Given the description of an element on the screen output the (x, y) to click on. 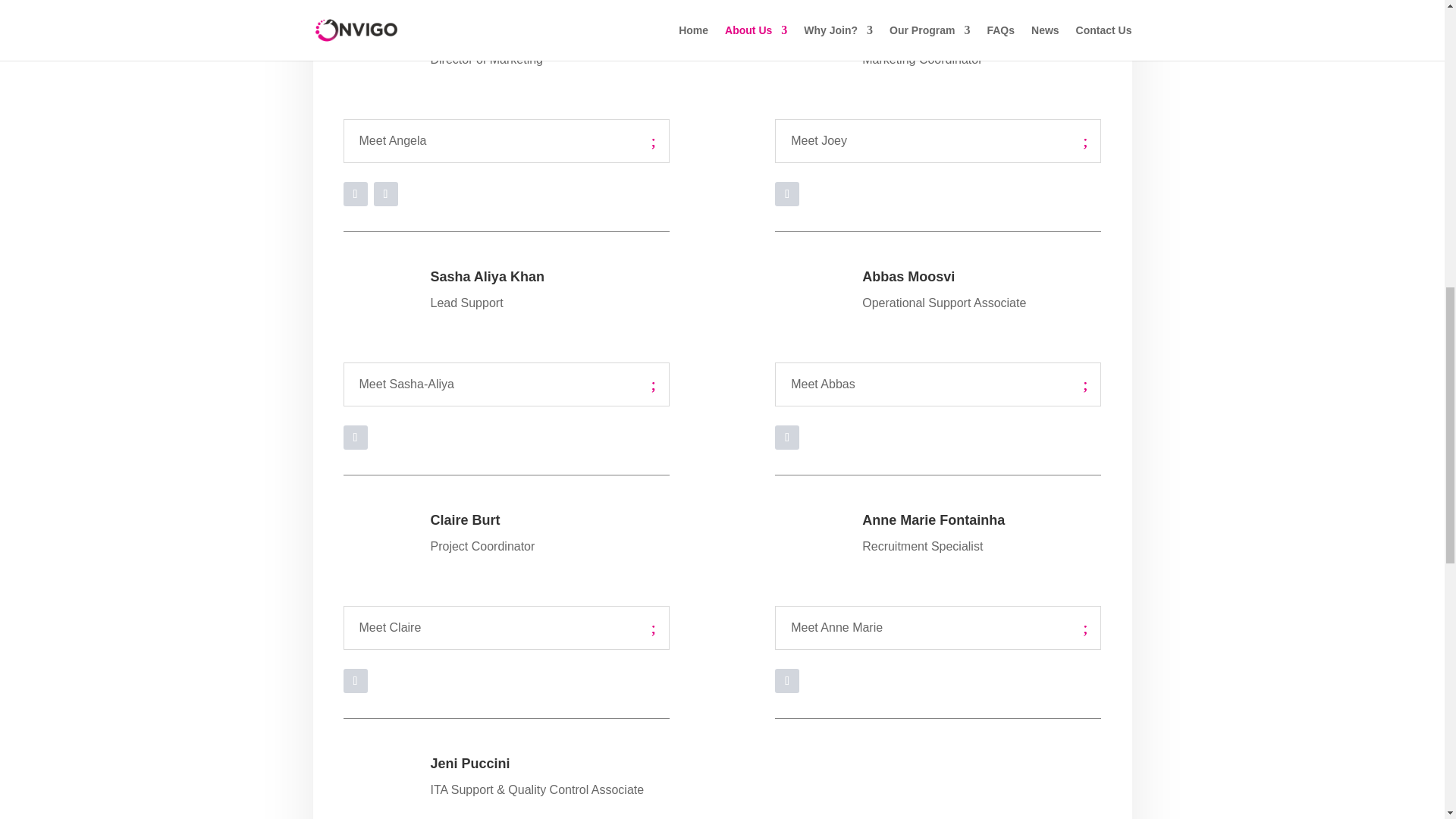
Follow on LinkedIn (786, 437)
Follow on LinkedIn (354, 437)
Follow on LinkedIn (786, 680)
Follow on LinkedIn (384, 193)
Follow on LinkedIn (354, 680)
Follow on Instagram (354, 193)
Follow on LinkedIn (786, 193)
